Given the description of an element on the screen output the (x, y) to click on. 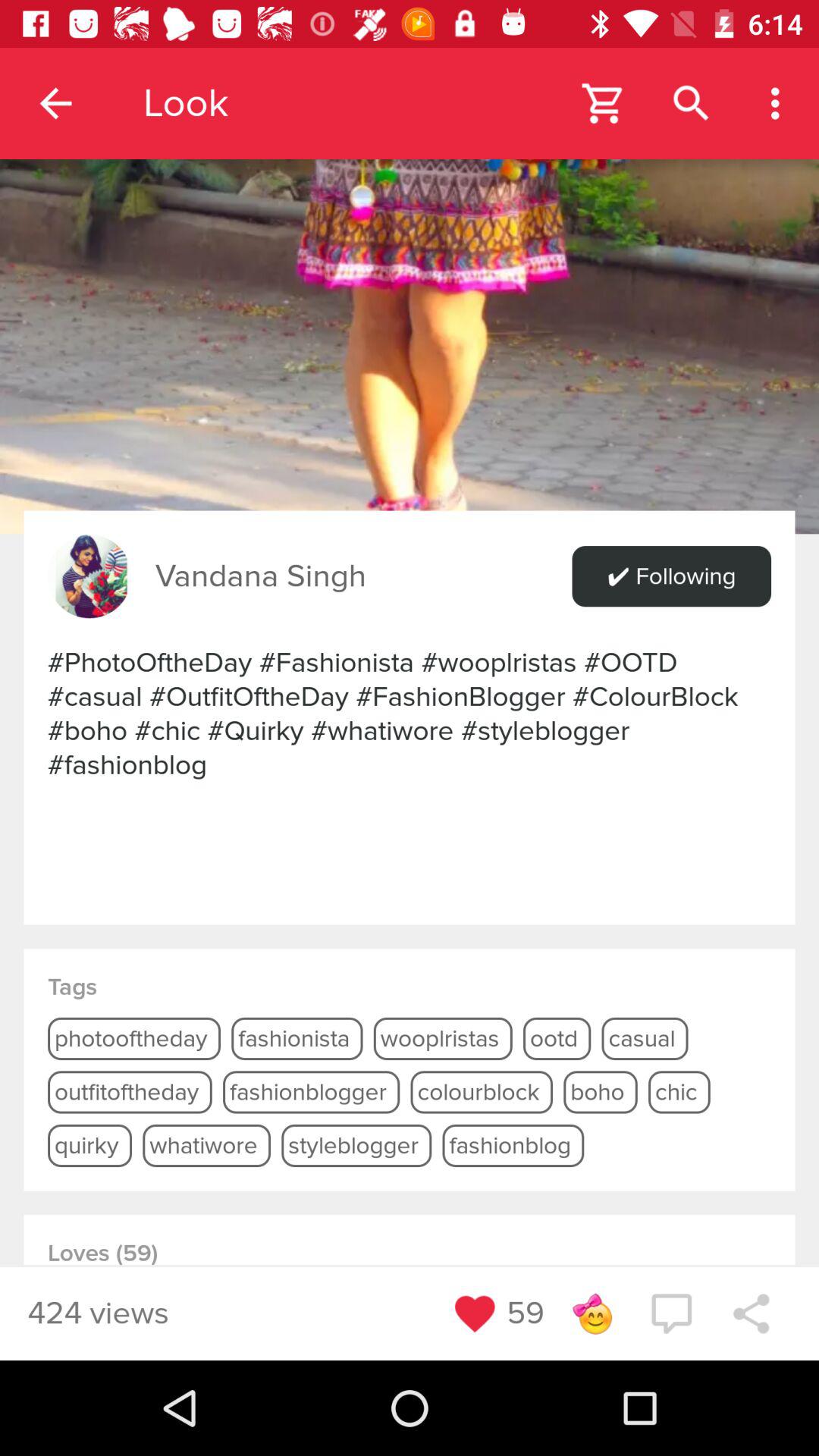
press app next to the look item (55, 103)
